Given the description of an element on the screen output the (x, y) to click on. 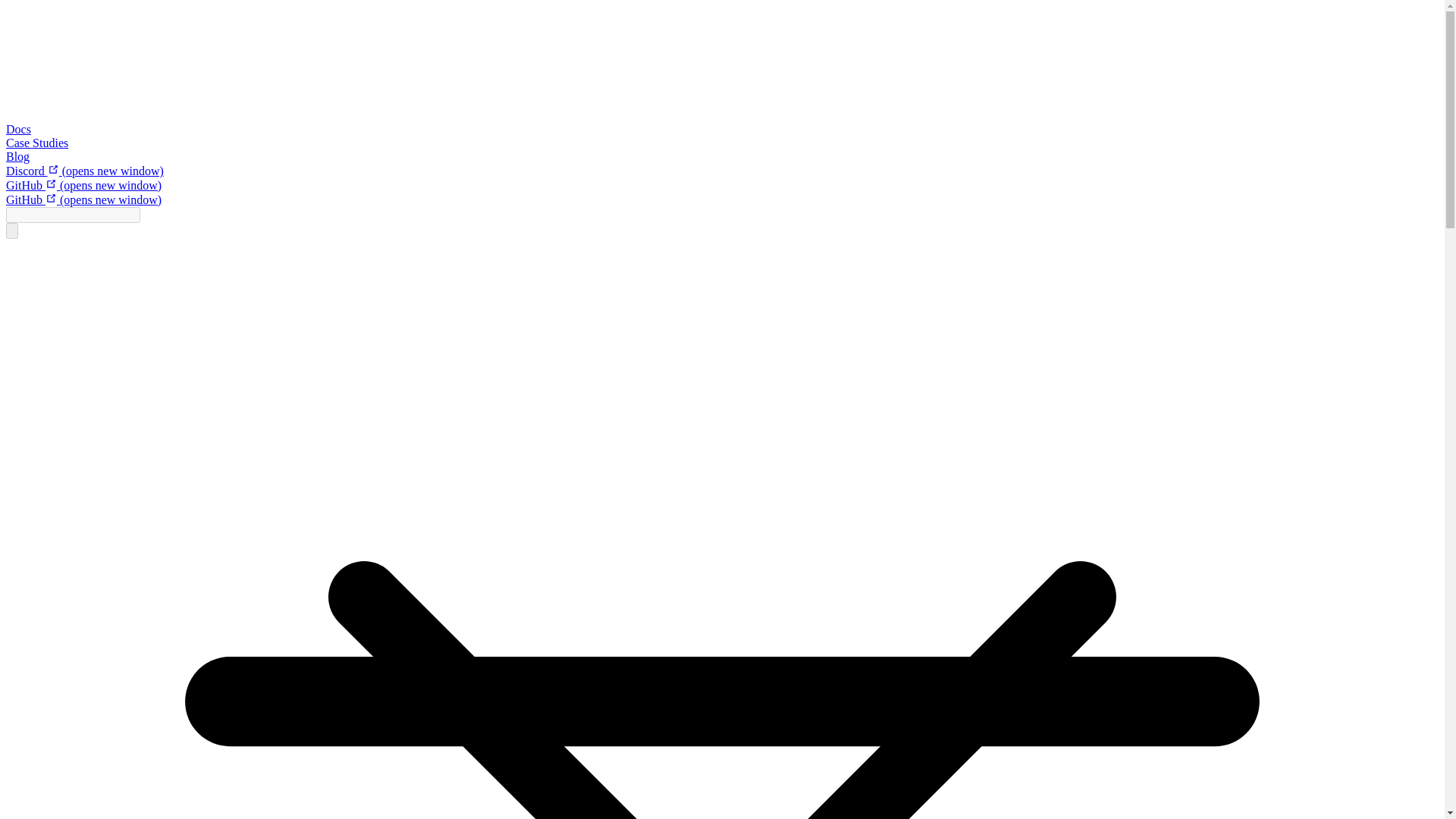
Blog (17, 155)
Docs (17, 128)
Case Studies (36, 142)
